Given the description of an element on the screen output the (x, y) to click on. 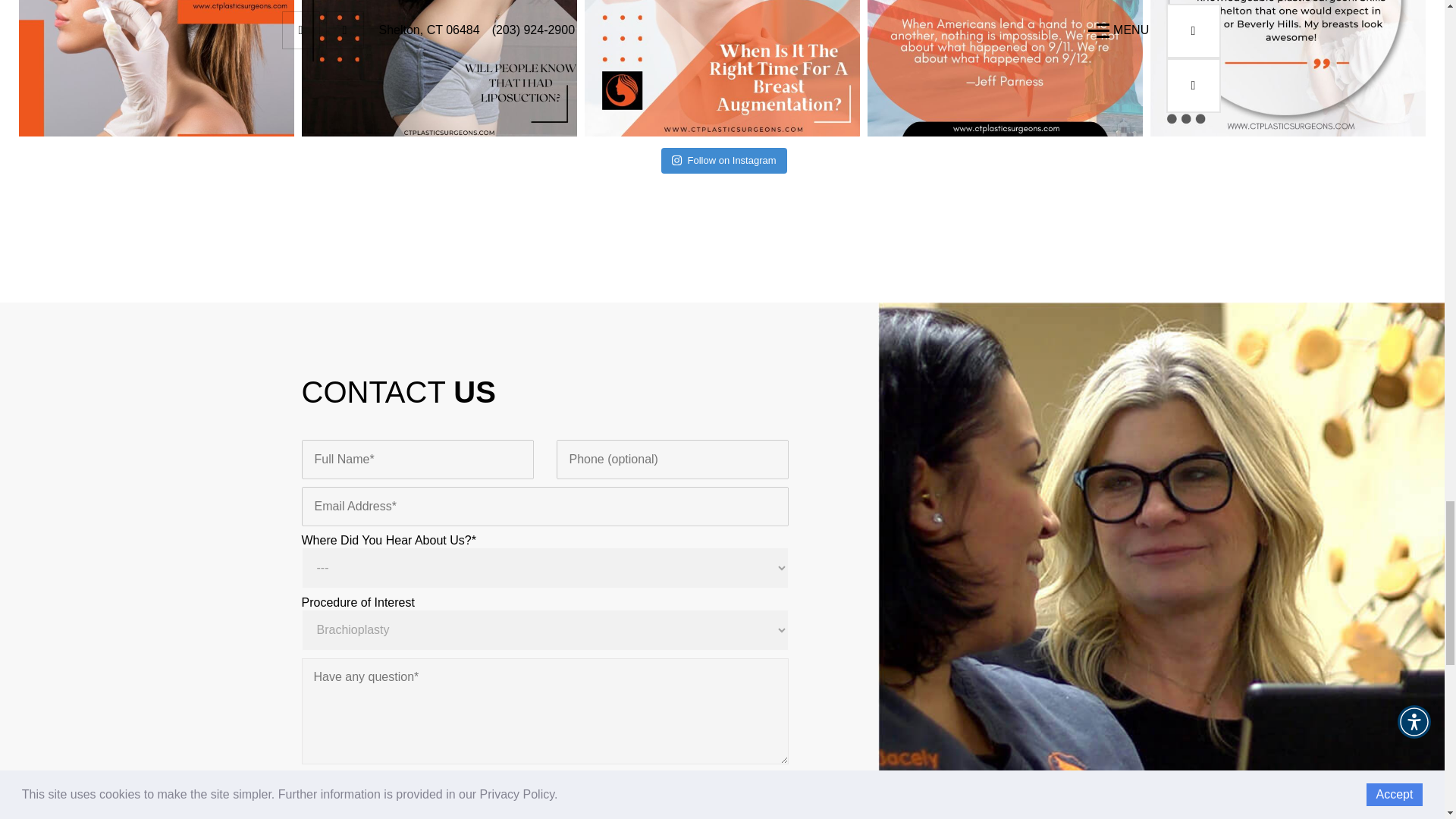
1 (318, 798)
1 (318, 779)
